Given the description of an element on the screen output the (x, y) to click on. 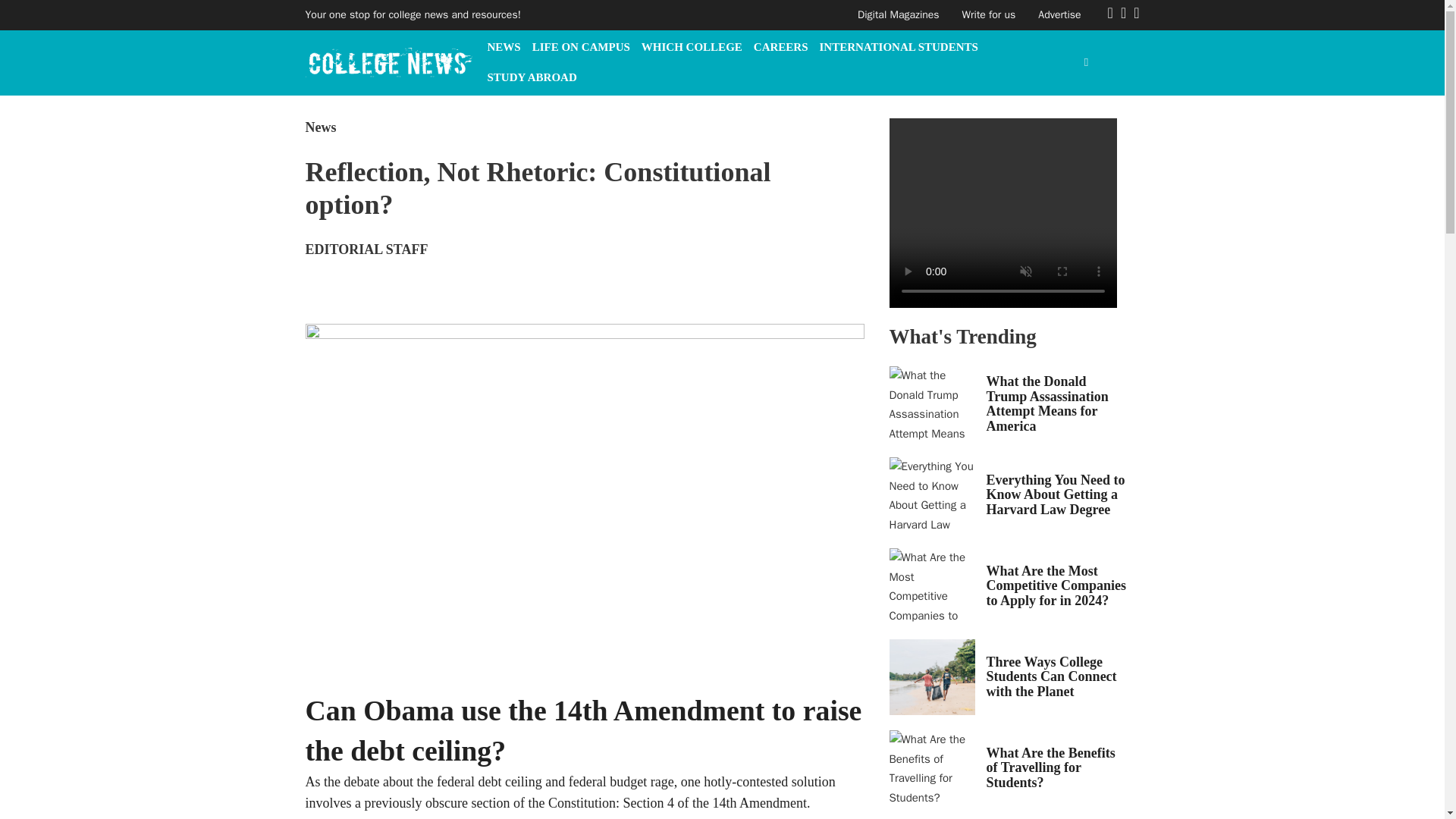
Digital Magazines (898, 14)
Advertise (1059, 14)
Write for us (989, 14)
NEWS (502, 47)
Advertisement (1002, 593)
